Given the description of an element on the screen output the (x, y) to click on. 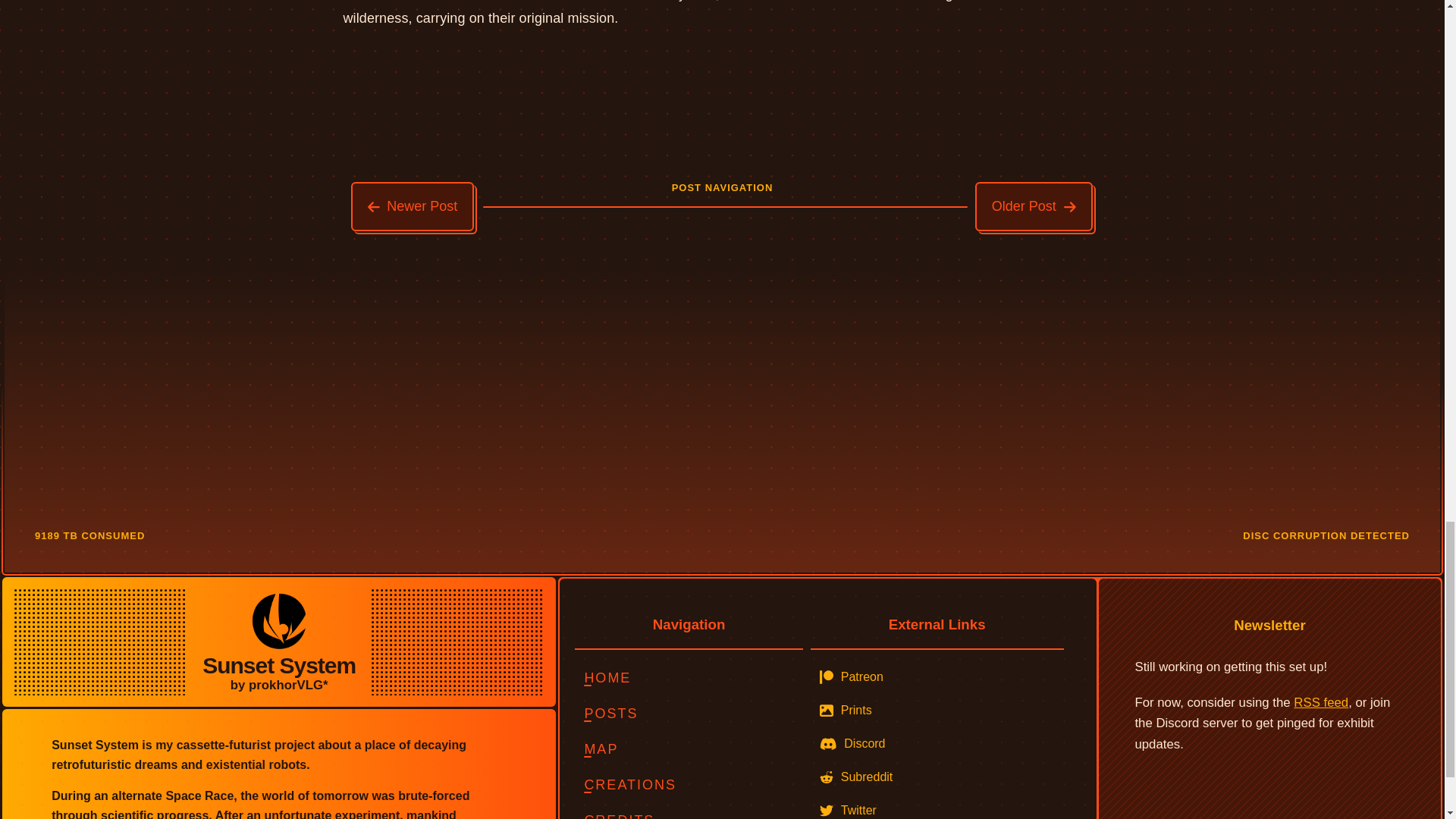
CREDITS (688, 811)
RSS feed (1321, 702)
POSTS (688, 713)
Older Post (1034, 205)
Discord (937, 744)
HOME (688, 677)
Patreon (937, 676)
Newer Post (412, 205)
MAP (688, 749)
Prints (937, 710)
CREATIONS (688, 785)
Twitter (937, 806)
Subreddit (937, 777)
